Given the description of an element on the screen output the (x, y) to click on. 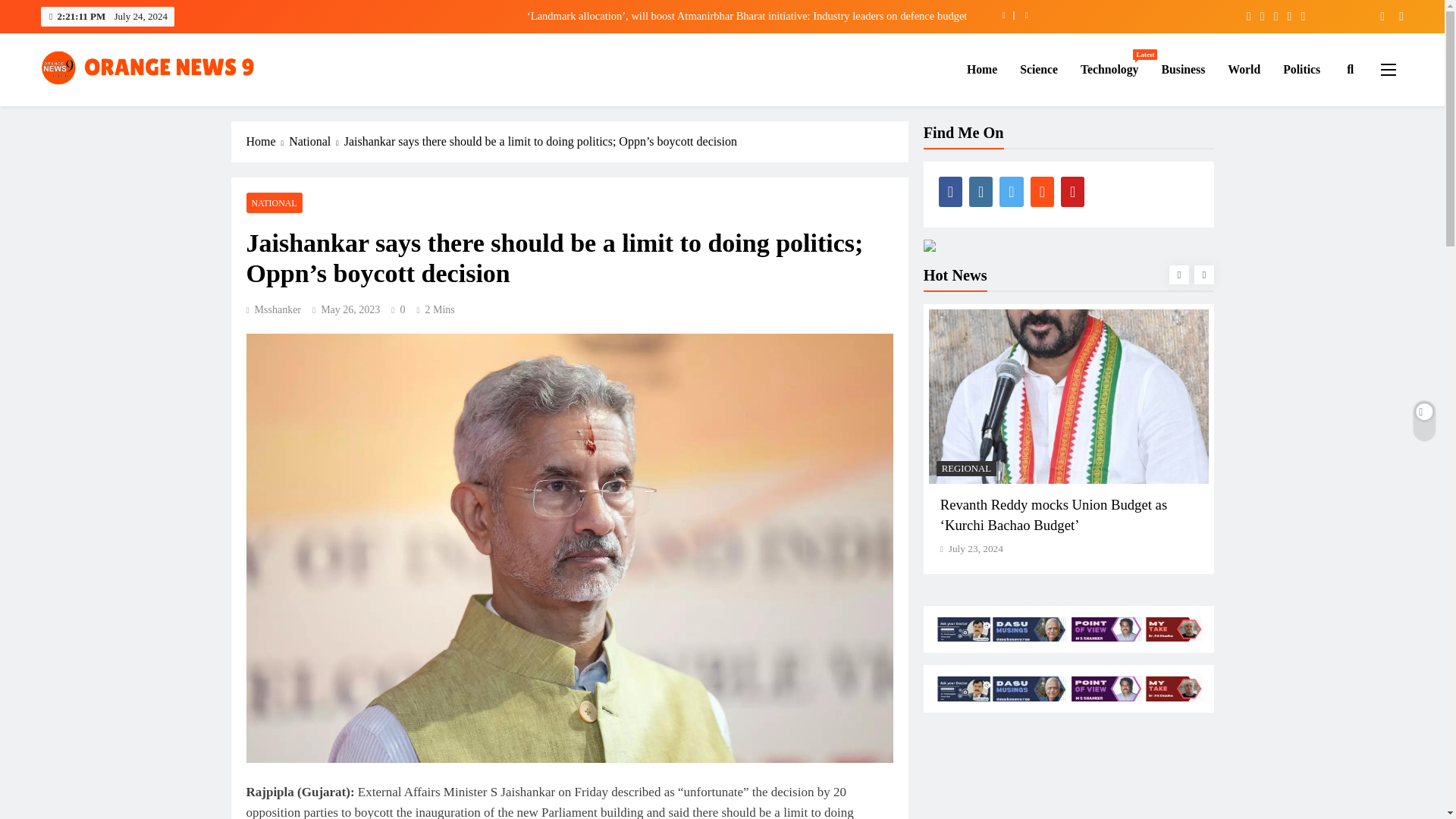
Home (982, 69)
Business (1182, 69)
OrangeNews9 (111, 107)
World (1243, 69)
Science (1038, 69)
Politics (1109, 69)
